Given the description of an element on the screen output the (x, y) to click on. 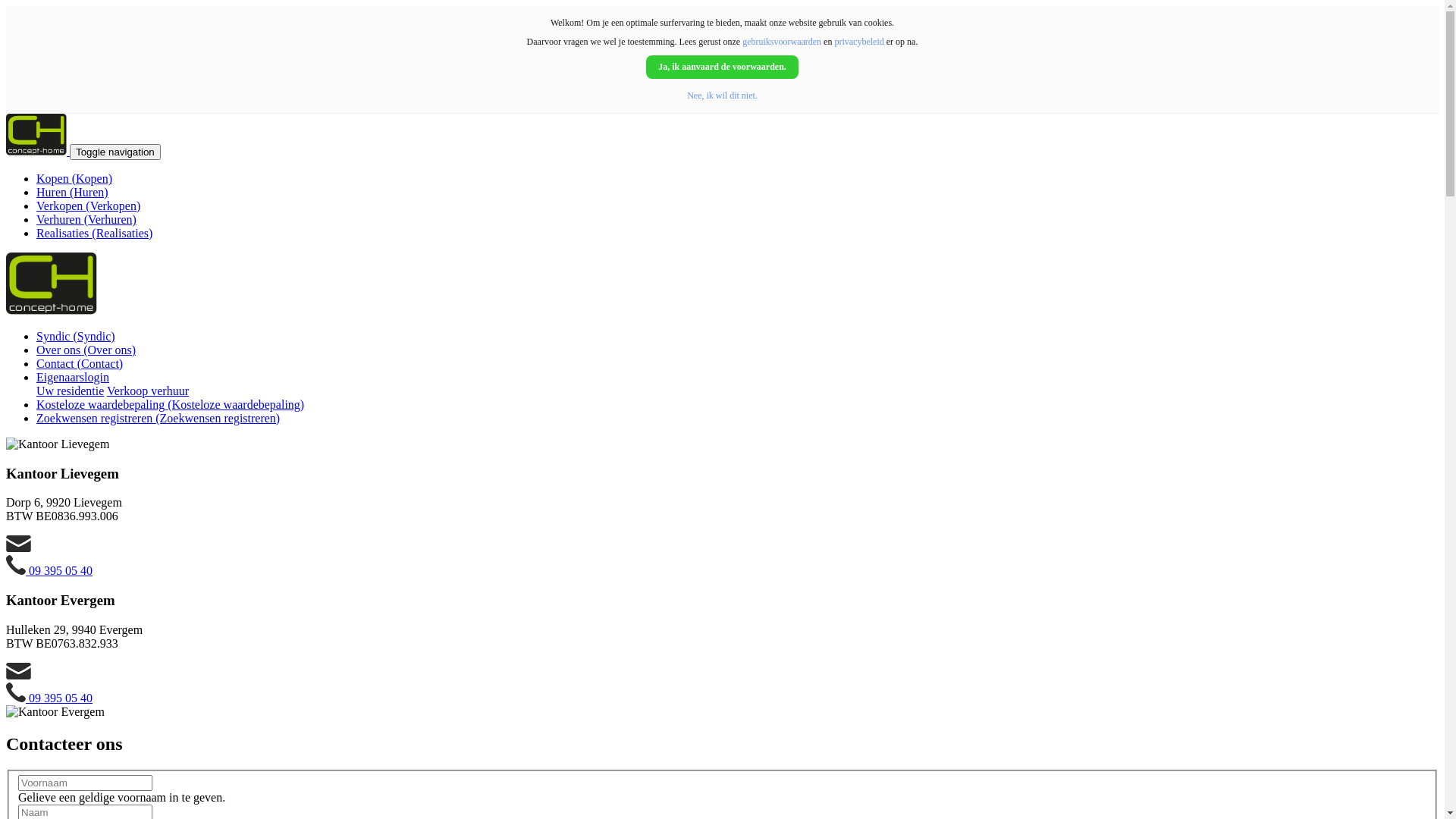
09 395 05 40 Element type: text (49, 697)
Huren (Huren) Element type: text (72, 191)
privacybeleid Element type: text (858, 41)
Ja, ik aanvaard de voorwaarden. Element type: text (722, 66)
Realisaties (Realisaties) Element type: text (94, 232)
Eigenaarslogin Element type: text (72, 376)
gebruiksvoorwaarden Element type: text (781, 41)
Zoekwensen registreren (Zoekwensen registreren) Element type: text (157, 417)
09 395 05 40 Element type: text (49, 570)
Kosteloze waardebepaling (Kosteloze waardebepaling) Element type: text (170, 404)
Syndic (Syndic) Element type: text (75, 335)
Over ons (Over ons) Element type: text (85, 349)
Kopen (Kopen) Element type: text (74, 178)
Verhuren (Verhuren) Element type: text (86, 219)
Nee, ik wil dit niet. Element type: text (722, 95)
Uw residentie Element type: text (69, 390)
Verkopen (Verkopen) Element type: text (88, 205)
Toggle navigation Element type: text (114, 152)
Contact (Contact) Element type: text (79, 363)
Verkoop verhuur Element type: text (147, 390)
